Given the description of an element on the screen output the (x, y) to click on. 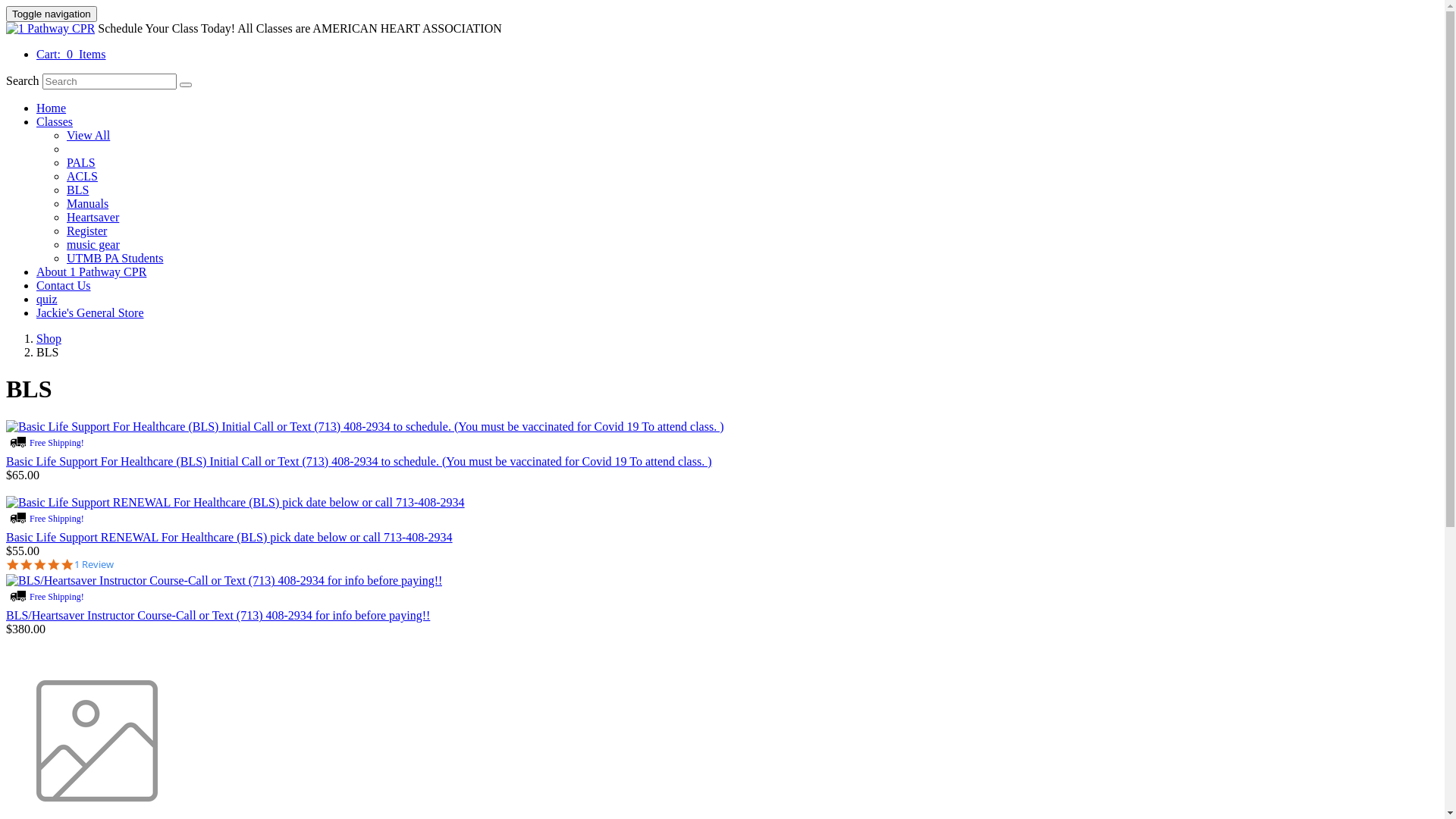
Heartsaver Element type: text (92, 216)
Shop Element type: text (48, 338)
View All Element type: text (87, 134)
PALS Element type: text (80, 162)
1 Review Element type: text (93, 564)
music gear Element type: text (92, 244)
About 1 Pathway CPR Element type: text (91, 271)
BLS Element type: text (77, 189)
Jackie's General Store Element type: text (90, 312)
Classes Element type: text (54, 121)
UTMB PA Students Element type: text (114, 257)
Home Element type: text (50, 107)
ACLS Element type: text (81, 175)
Cart:  0  Items Element type: text (71, 53)
Register Element type: text (86, 230)
Contact Us Element type: text (63, 285)
Toggle navigation Element type: text (51, 13)
quiz Element type: text (46, 298)
Manuals Element type: text (87, 203)
